Given the description of an element on the screen output the (x, y) to click on. 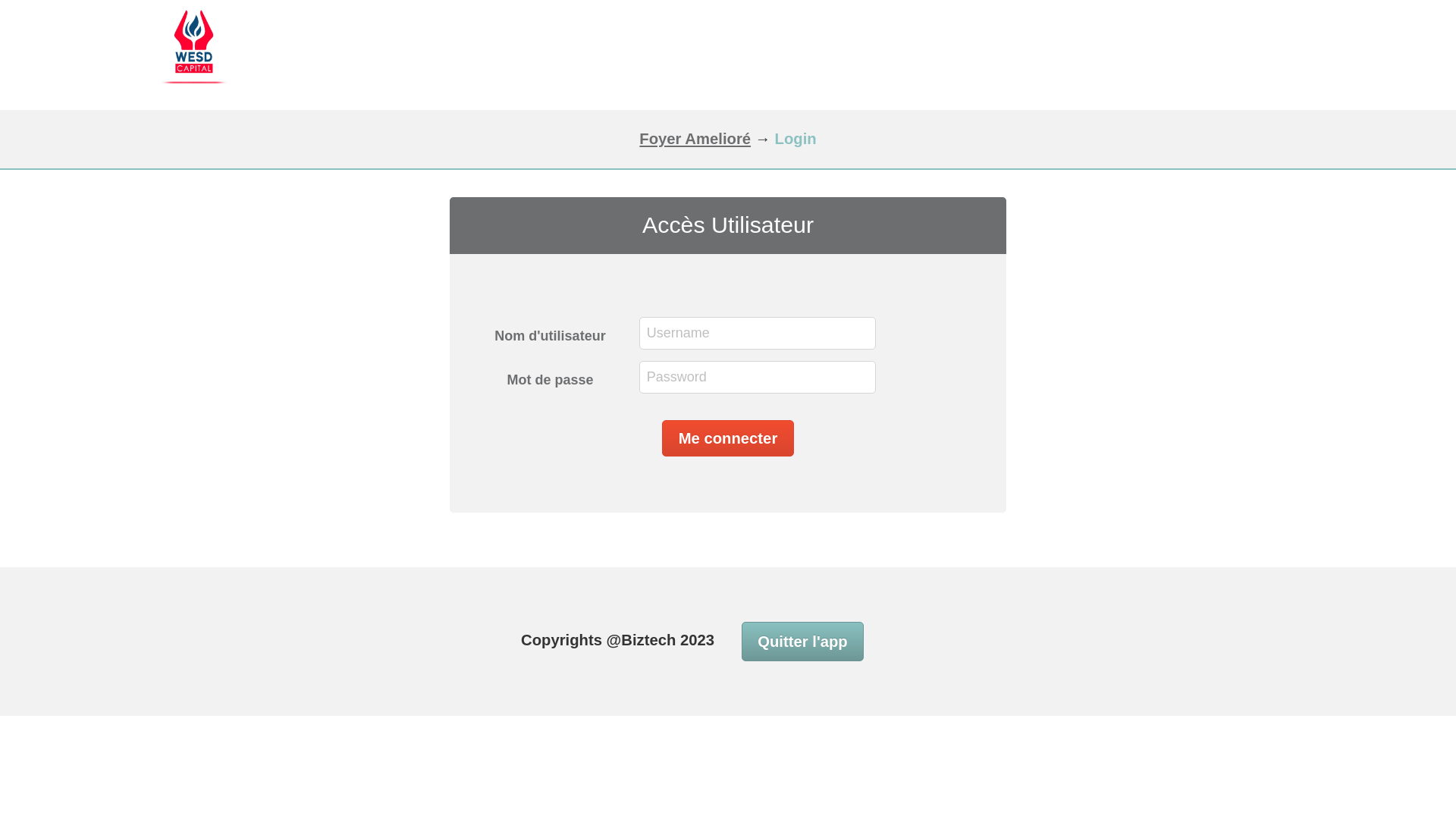
Quitter l'app Element type: text (802, 641)
Your username Element type: hover (757, 332)
Your password Element type: hover (757, 376)
Me connecter Element type: text (727, 438)
